Given the description of an element on the screen output the (x, y) to click on. 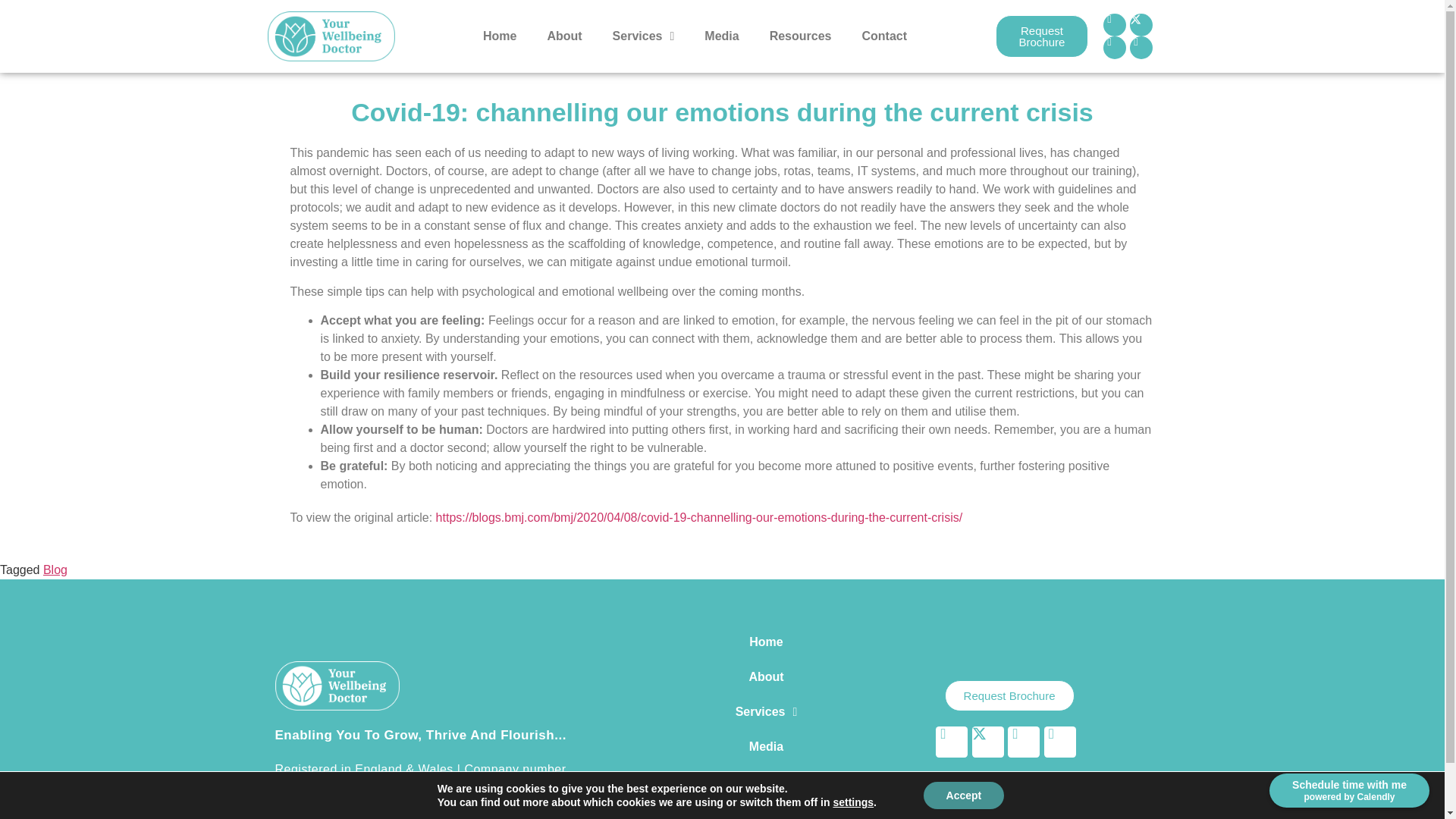
Resources (800, 36)
Request Brochure (1040, 36)
About (563, 36)
Home (499, 36)
Media (721, 36)
Contact (883, 36)
Services (643, 36)
